Given the description of an element on the screen output the (x, y) to click on. 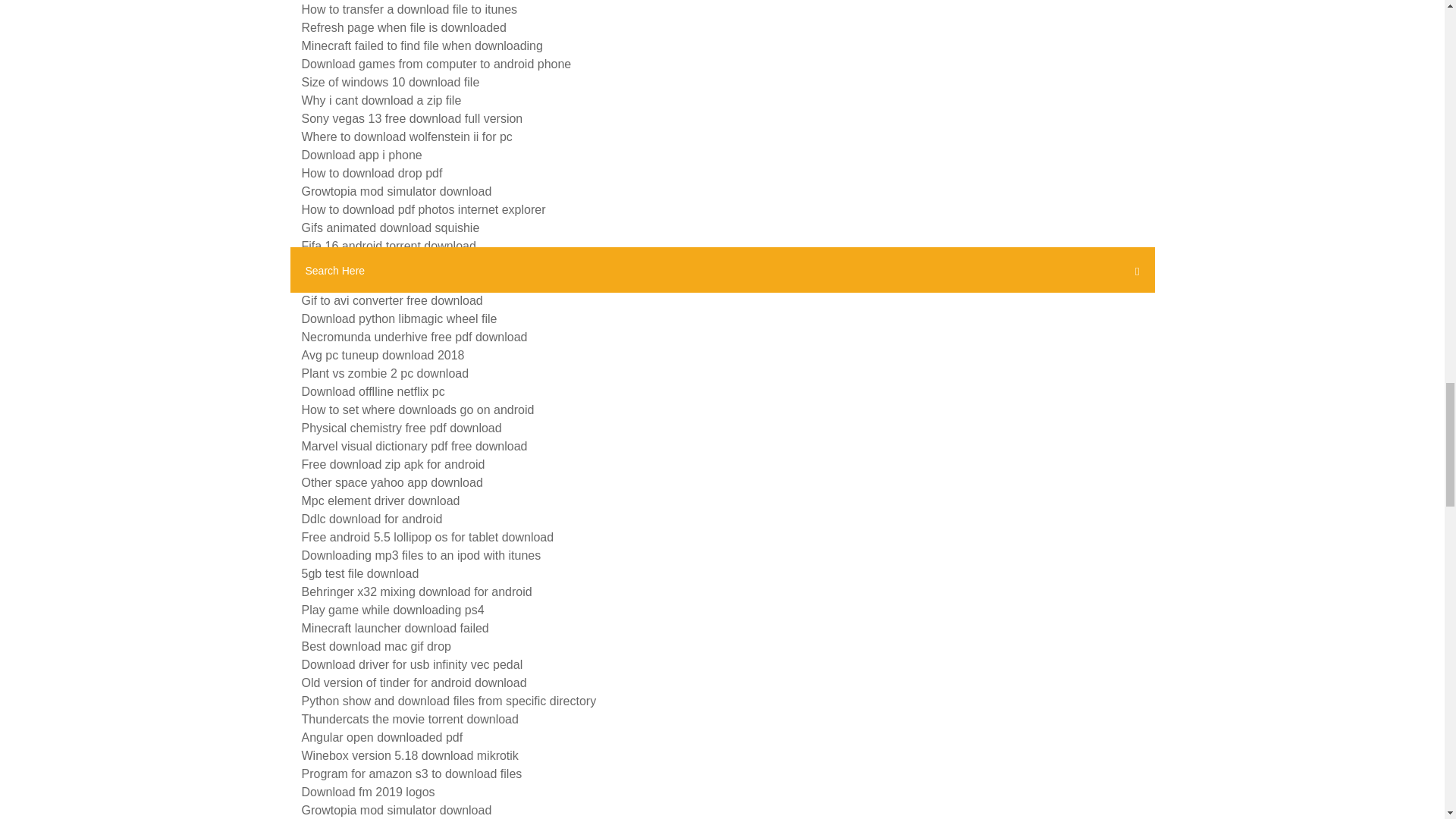
Where to download wolfenstein ii for pc (406, 136)
Why i cant download a zip file (381, 100)
Size of windows 10 download file (390, 82)
Refresh page when file is downloaded (403, 27)
Sony vegas 13 free download full version (411, 118)
How to download drop pdf (371, 173)
Download app i phone (361, 154)
Minecraft failed to find file when downloading (422, 45)
Download games from computer to android phone (436, 63)
How to transfer a download file to itunes (409, 9)
